Given the description of an element on the screen output the (x, y) to click on. 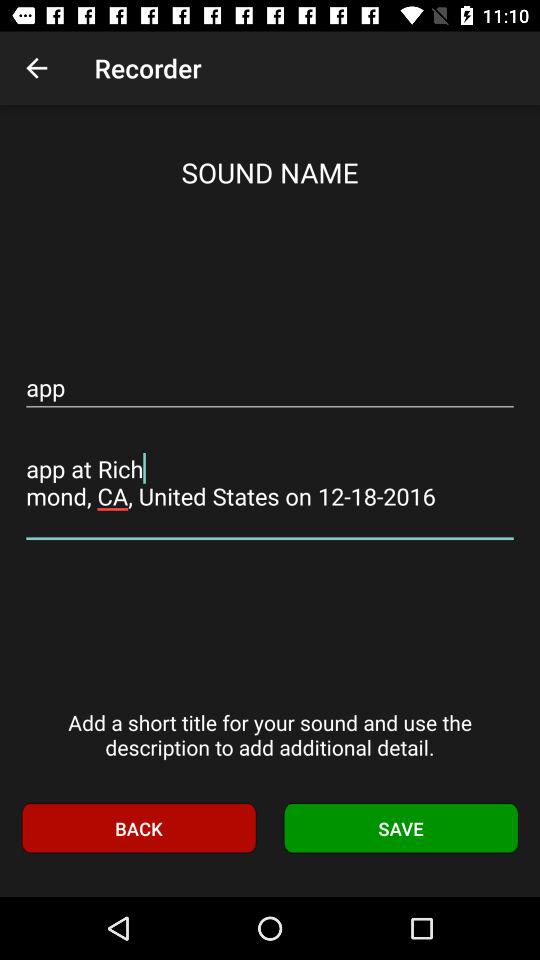
press icon next to back icon (401, 828)
